Given the description of an element on the screen output the (x, y) to click on. 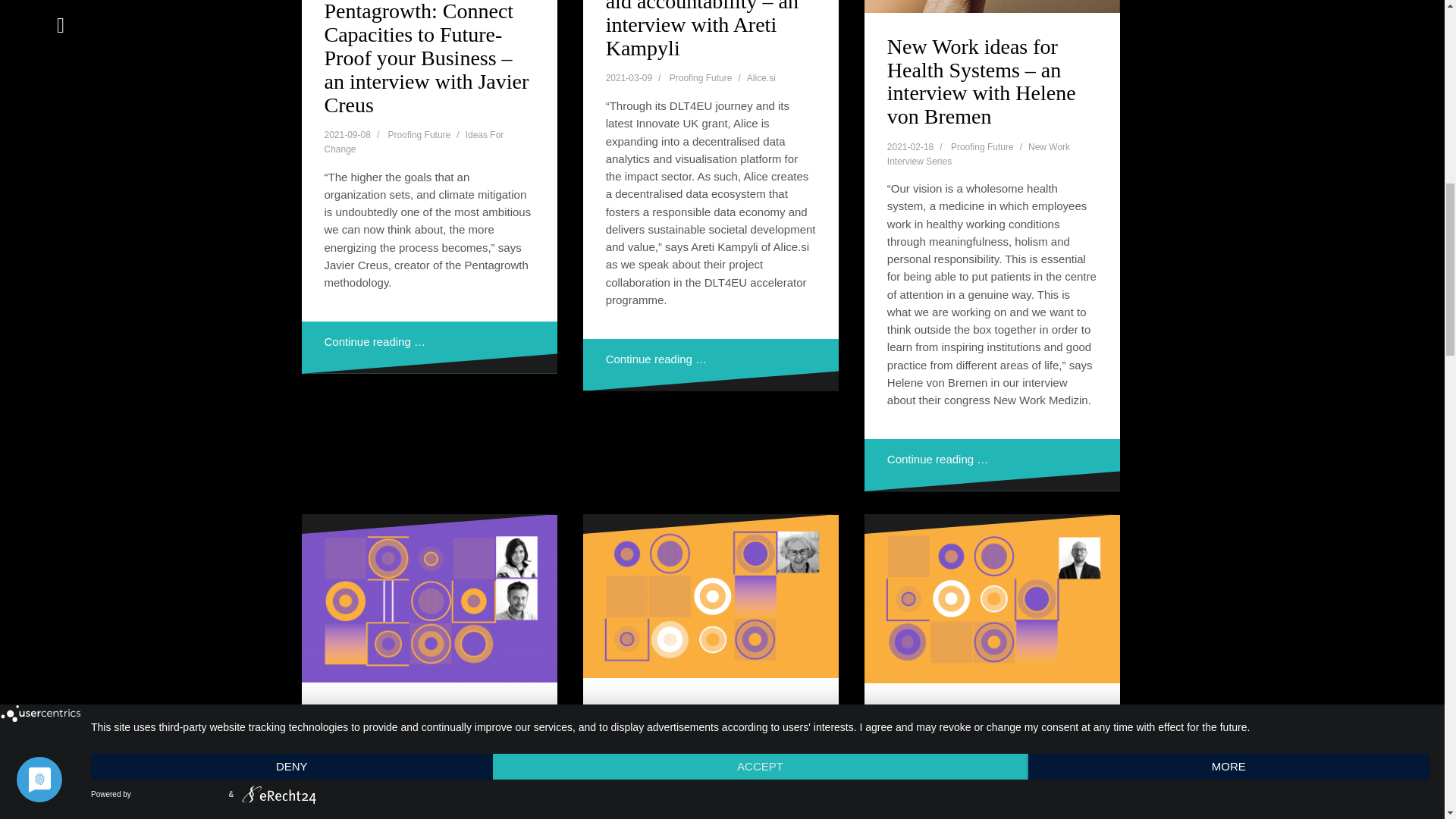
Ideas For Change (413, 141)
2021-09-08 (347, 134)
2021-03-09 (628, 77)
Proofing Future (419, 134)
Proofing Future (700, 77)
Alice.si (761, 77)
